Given the description of an element on the screen output the (x, y) to click on. 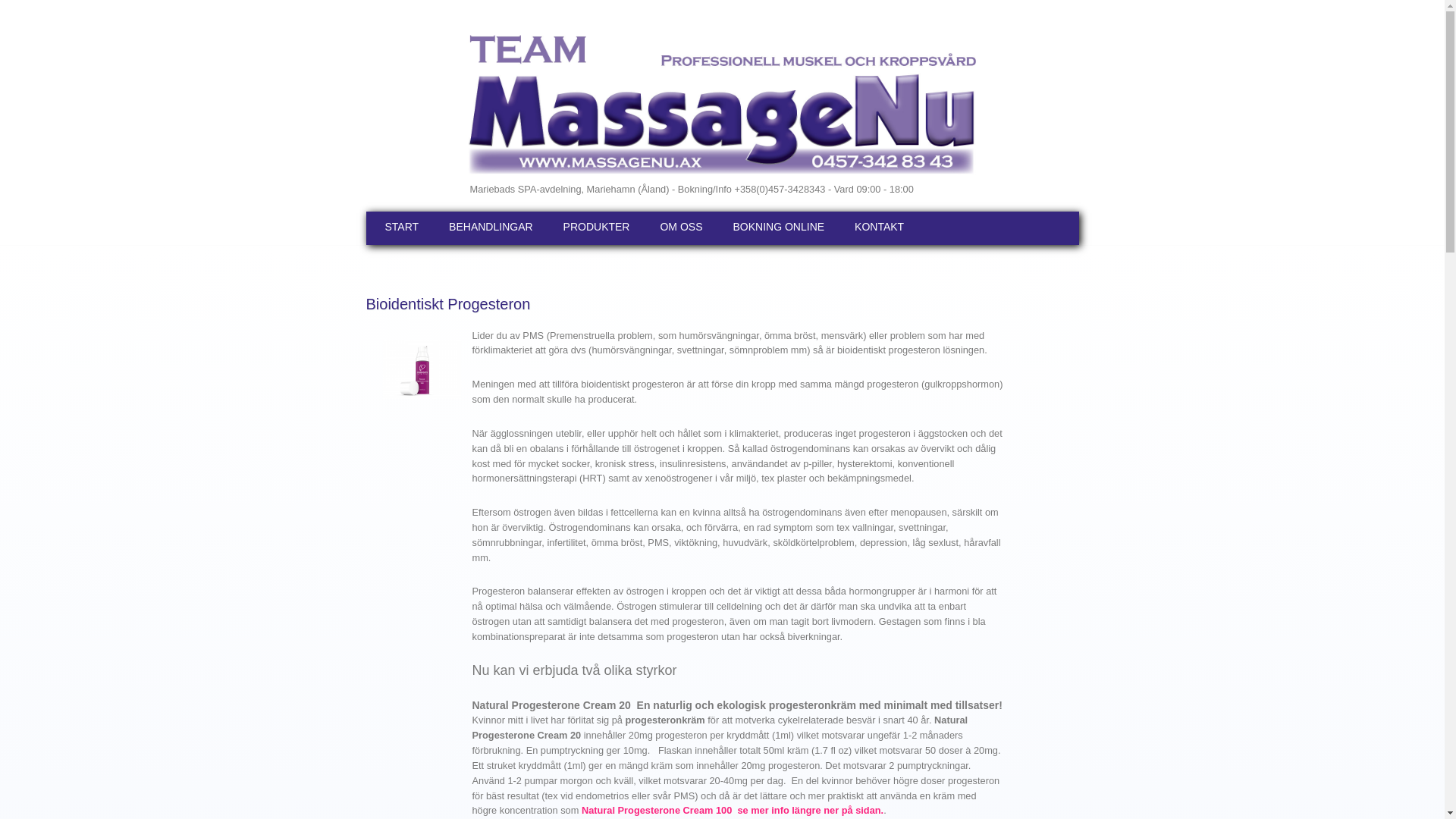
Hem Element type: hover (712, 103)
KONTAKT Element type: text (876, 226)
PRODUKTER Element type: text (596, 226)
START Element type: text (404, 226)
BOKNING ONLINE Element type: text (778, 226)
BEHANDLINGAR Element type: text (490, 226)
OM OSS Element type: text (680, 226)
